Given the description of an element on the screen output the (x, y) to click on. 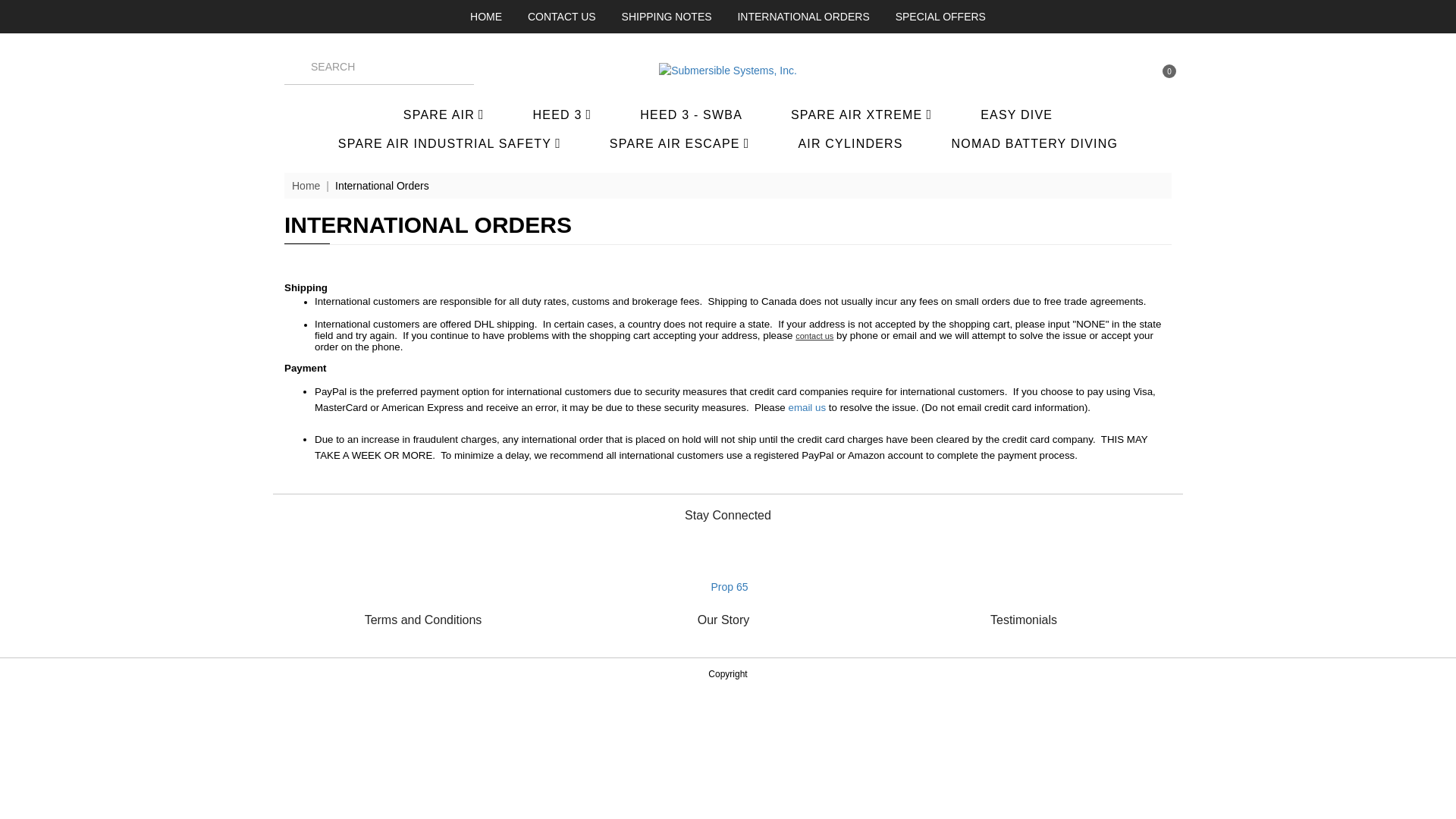
AIR CYLINDERS (849, 143)
HEED 3 - SWBA (691, 114)
EASY DIVE (1015, 114)
International Orders (381, 185)
SHIPPING NOTES (666, 16)
HOME (486, 16)
SPECIAL OFFERS (940, 16)
contact us (813, 335)
SPARE AIR INDUSTRIAL SAFETY (448, 142)
CONTACT US (561, 16)
